Given the description of an element on the screen output the (x, y) to click on. 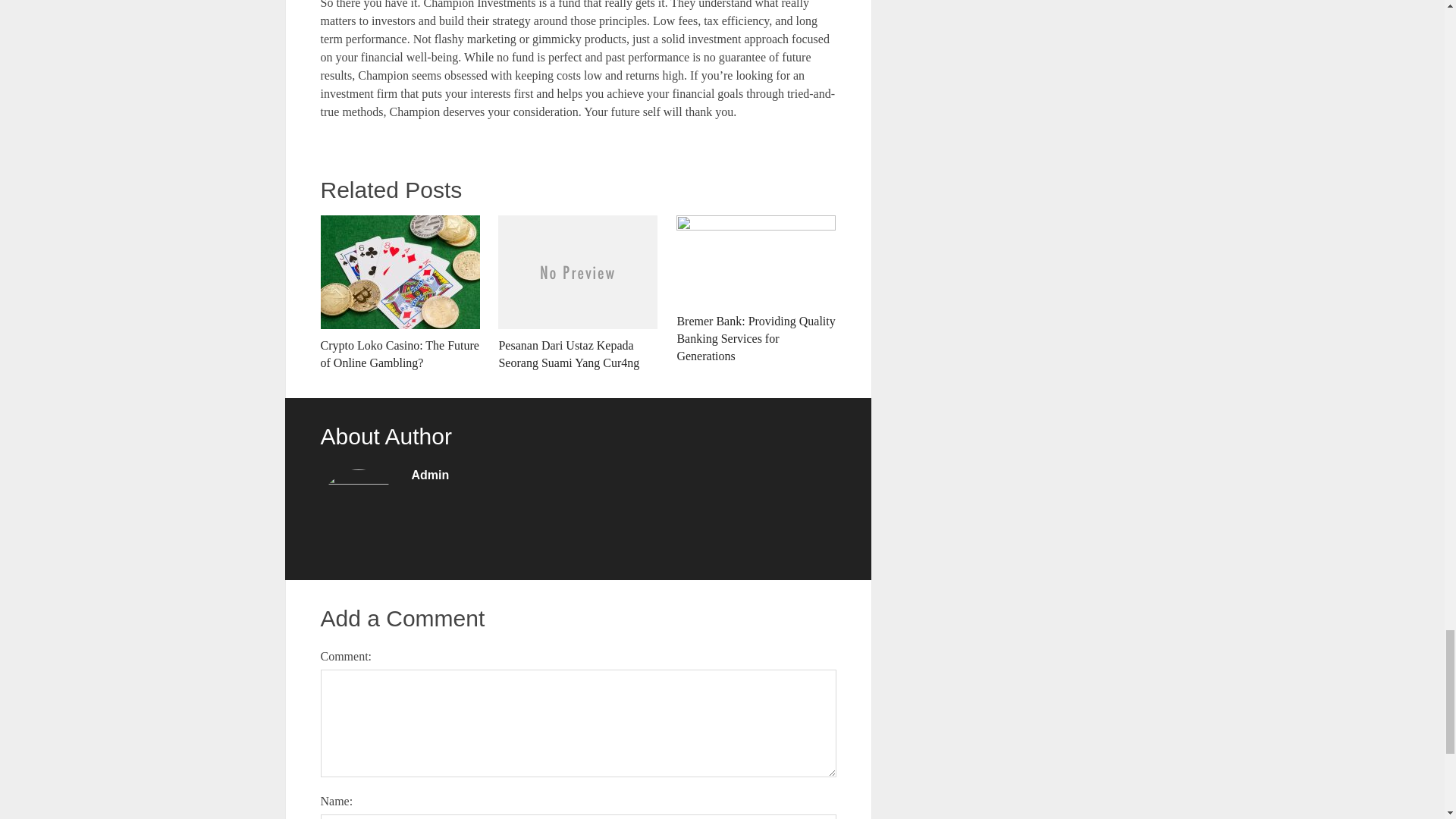
Pesanan Dari Ustaz Kepada Seorang Suami Yang Cur4ng (577, 293)
Pesanan Dari Ustaz Kepada Seorang Suami Yang Cur4ng (577, 293)
Crypto Loko Casino: The Future of Online Gambling? (399, 293)
Crypto Loko Casino: The Future of Online Gambling? (399, 293)
